Given the description of an element on the screen output the (x, y) to click on. 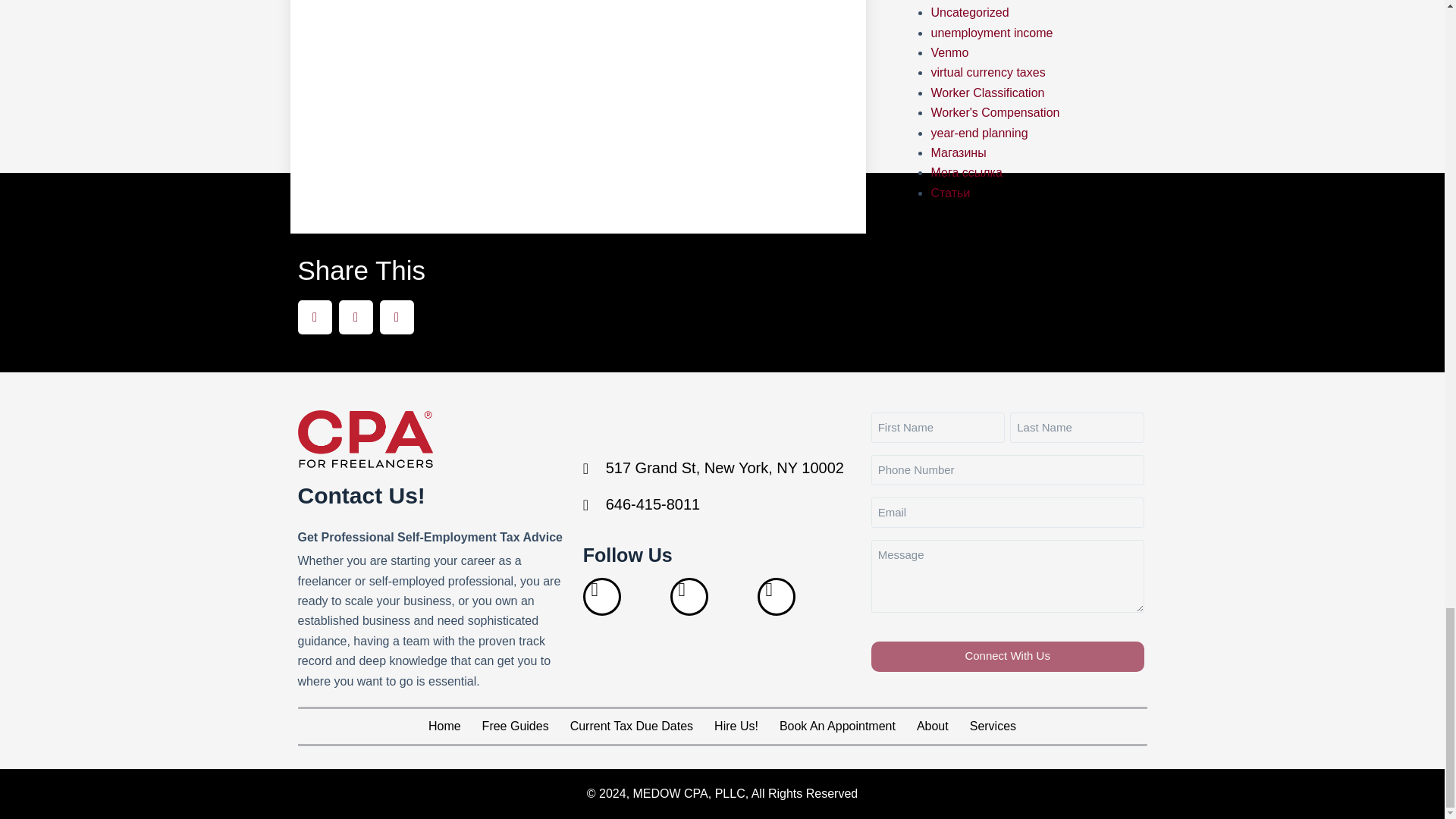
Connect With Us (1007, 656)
